Given the description of an element on the screen output the (x, y) to click on. 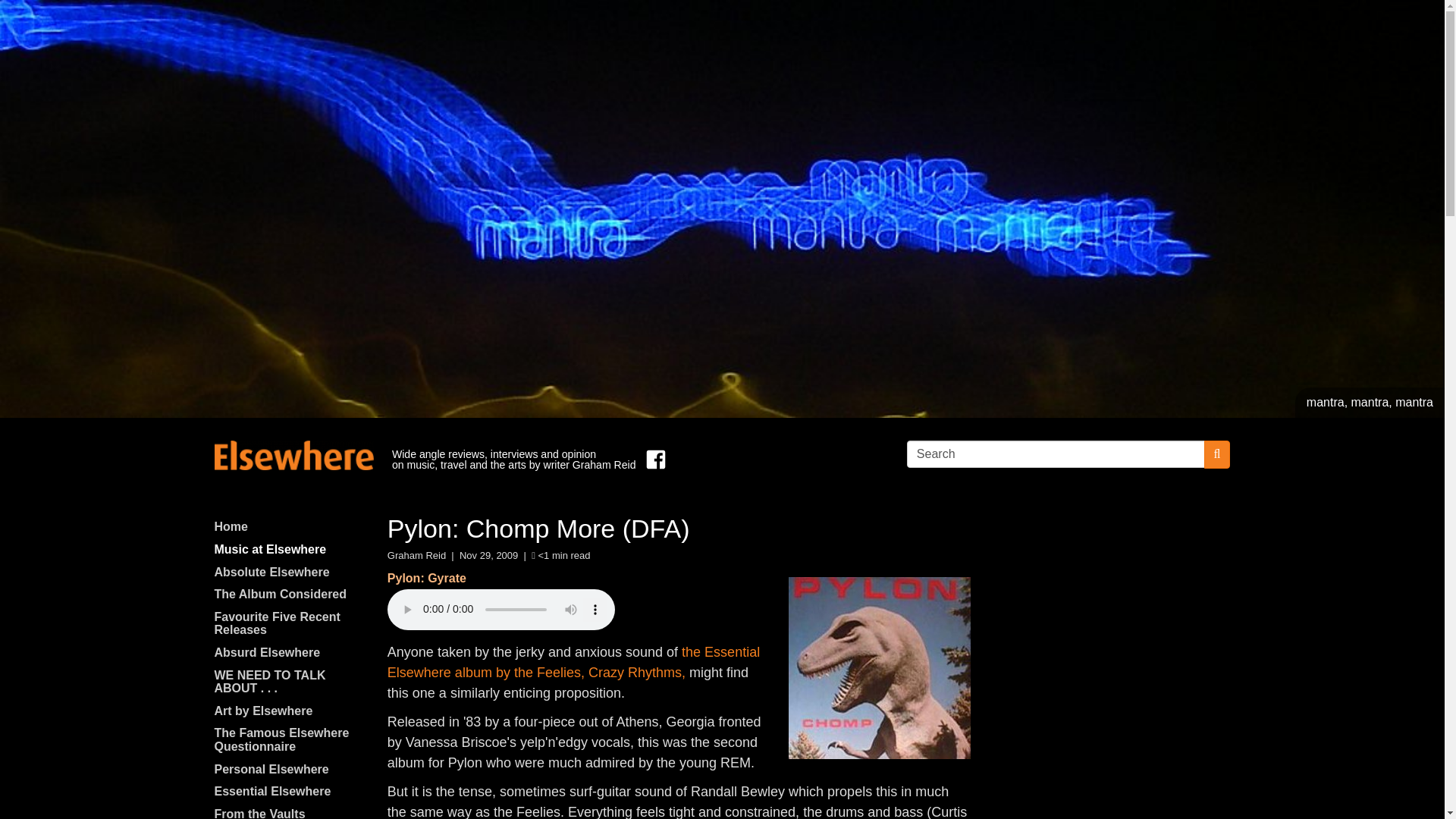
Search (1056, 453)
Search (1056, 453)
Elsewhere by Graham Reid (293, 455)
Find us on Facebook (652, 459)
